Given the description of an element on the screen output the (x, y) to click on. 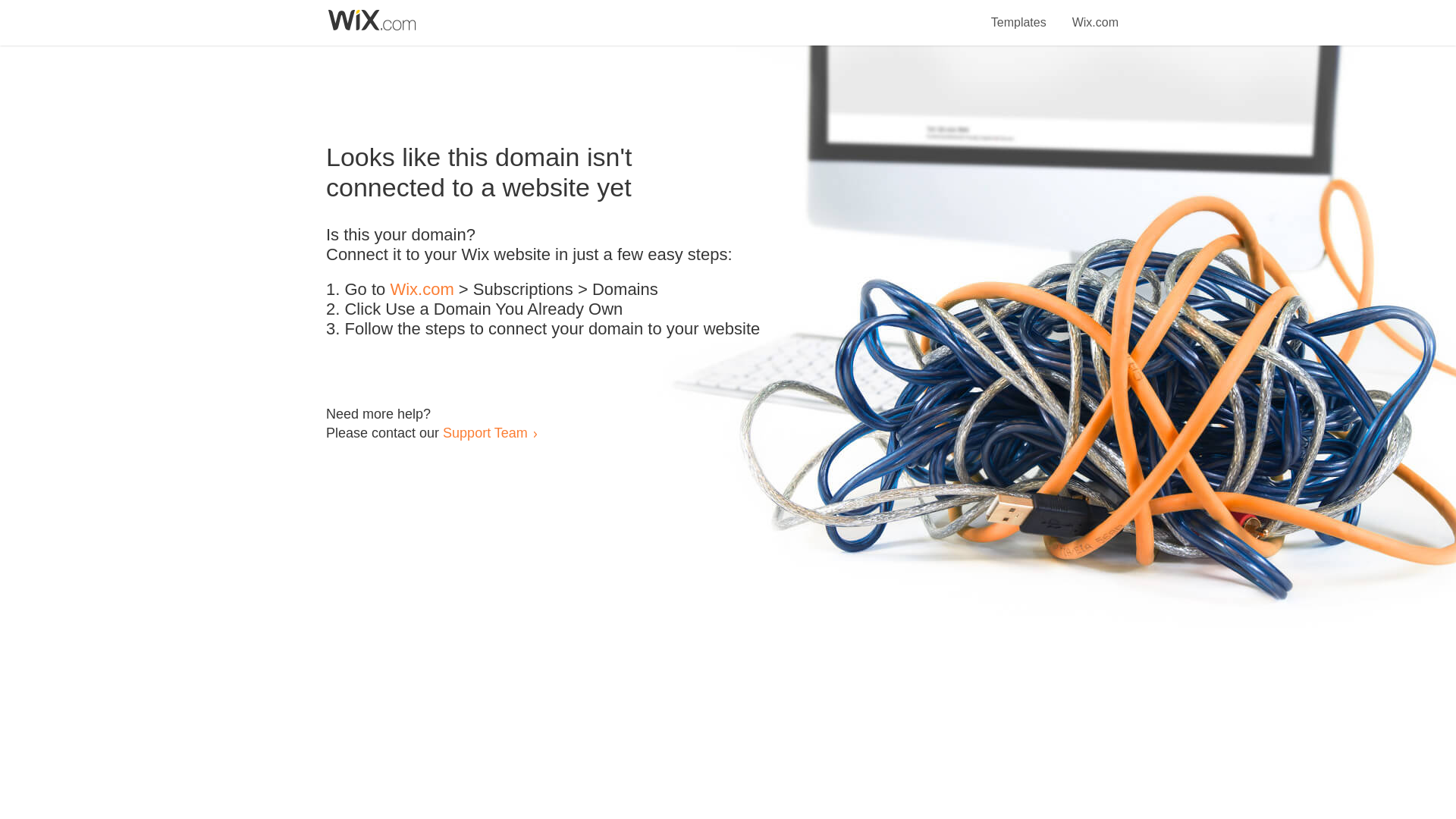
Wix.com (1095, 14)
Support Team (484, 432)
Wix.com (421, 289)
Templates (1018, 14)
